Given the description of an element on the screen output the (x, y) to click on. 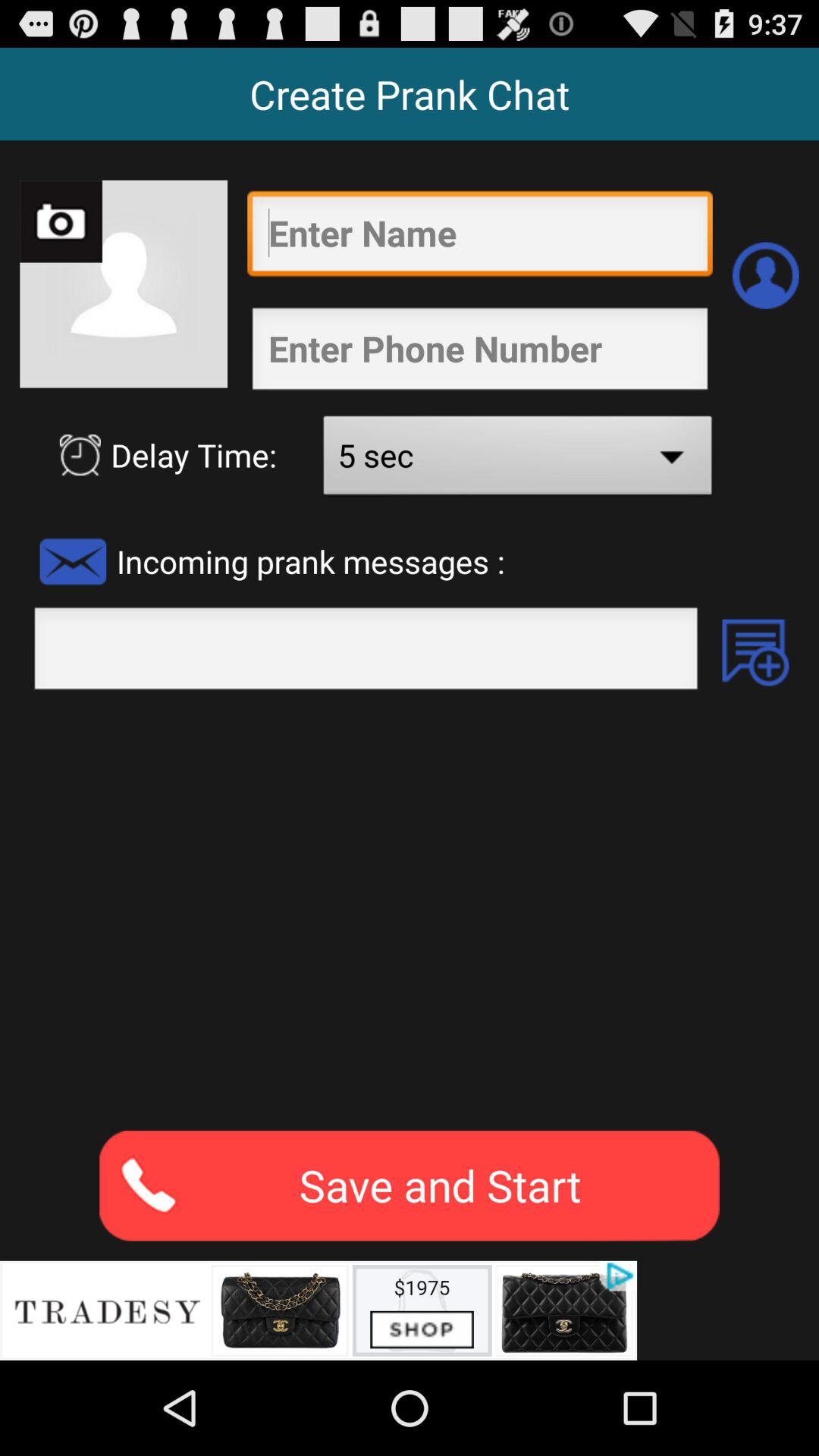
click the contact option (765, 275)
